Given the description of an element on the screen output the (x, y) to click on. 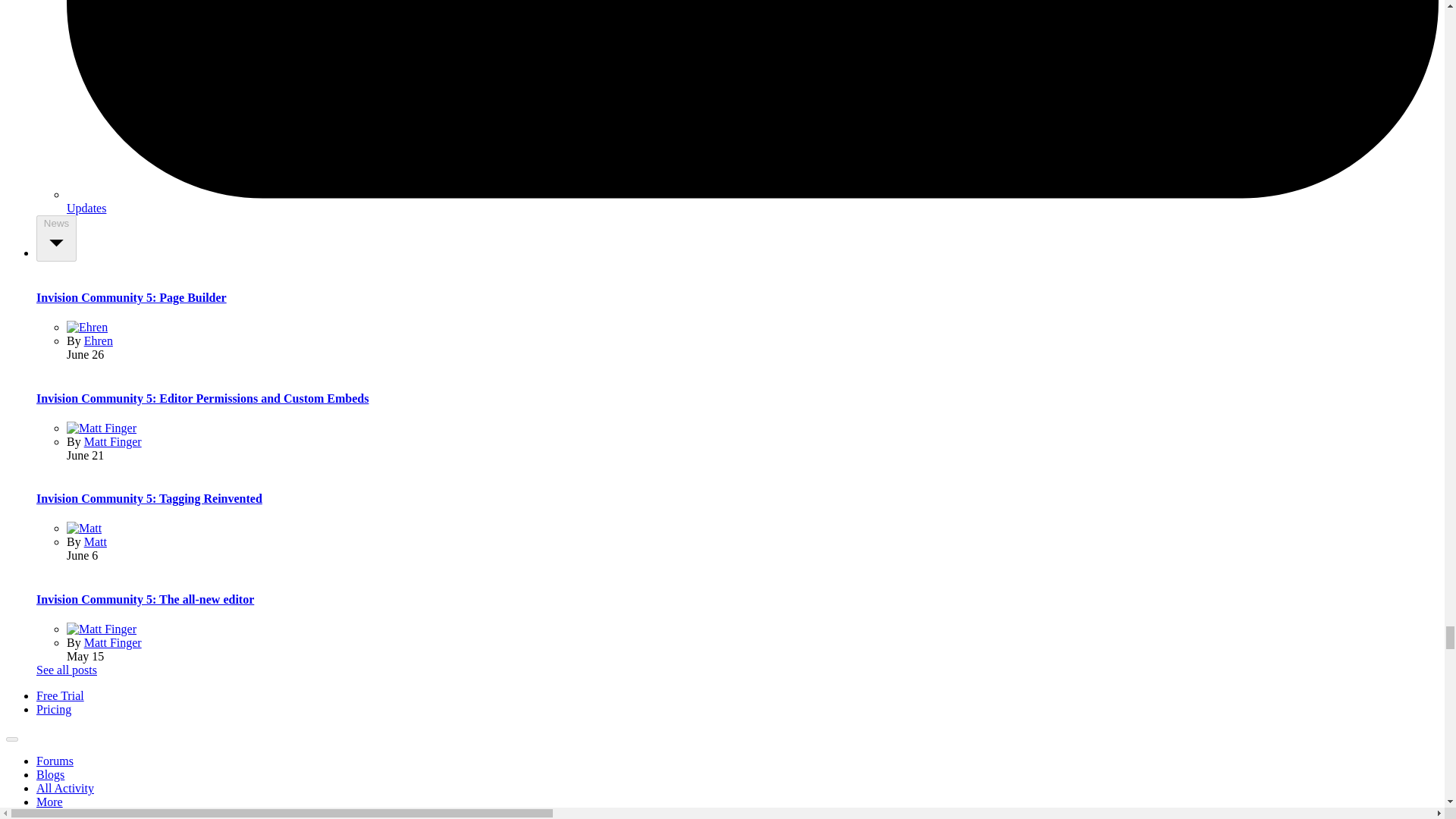
Go to Matt Finger's profile (101, 427)
Go to Matt Finger's profile (101, 628)
Read more about Invision Community 5: The all-new editor (144, 599)
Go to Ehren's profile (86, 327)
Go to Matt Finger's profile (112, 440)
Go to Matt's profile (83, 527)
Go to Matt Finger's profile (112, 642)
Read more about Invision Community 5: Tagging Reinvented (149, 498)
Go to Ehren's profile (98, 340)
Go to Matt's profile (95, 541)
